Given the description of an element on the screen output the (x, y) to click on. 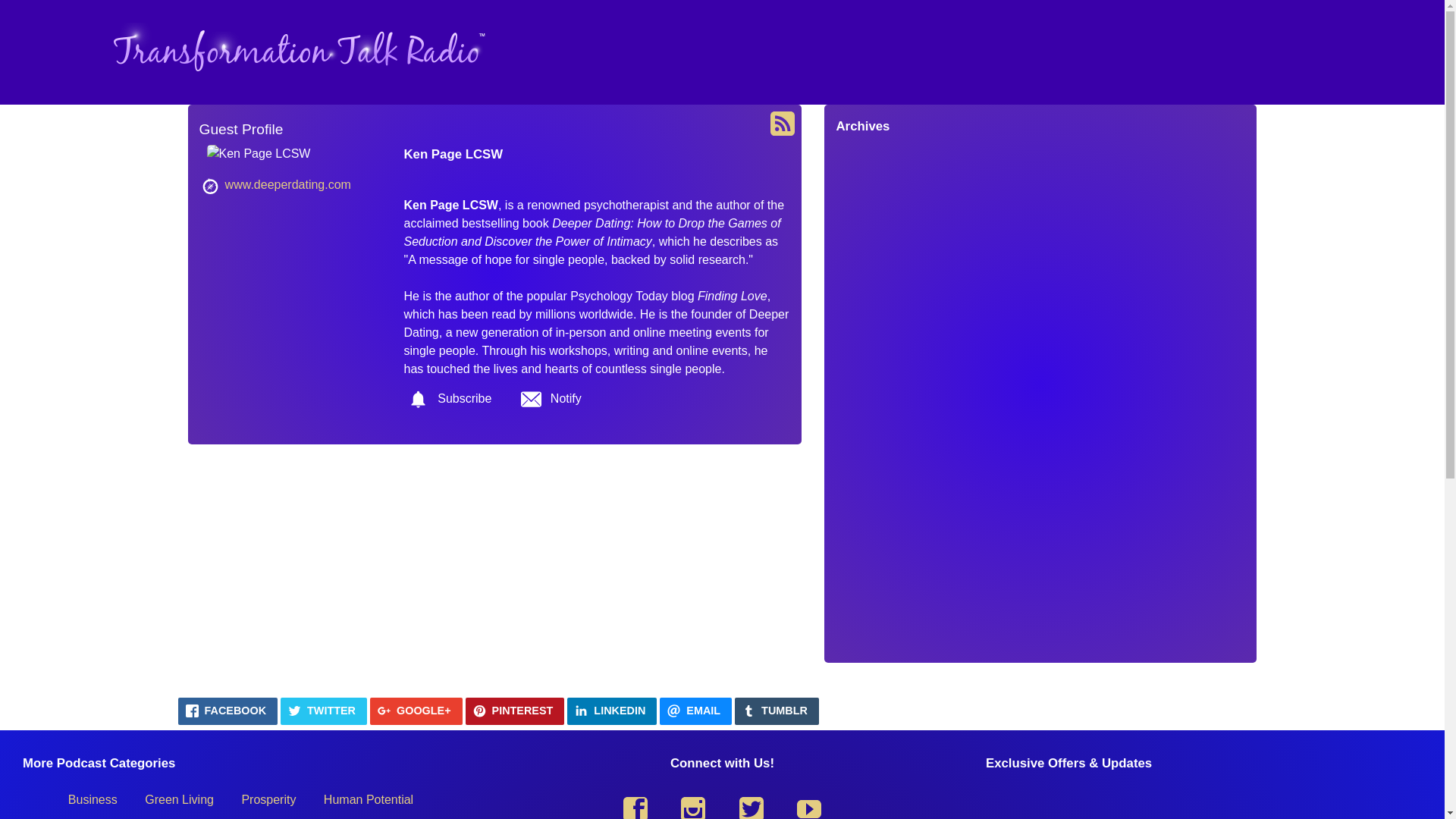
Prosperity (267, 799)
Self-Help (363, 816)
Human Potential (368, 799)
EMAIL (695, 710)
 Notify (551, 399)
Send me an email message when guest new podcast is available (551, 399)
TUMBLR (776, 710)
Business (92, 799)
